Given the description of an element on the screen output the (x, y) to click on. 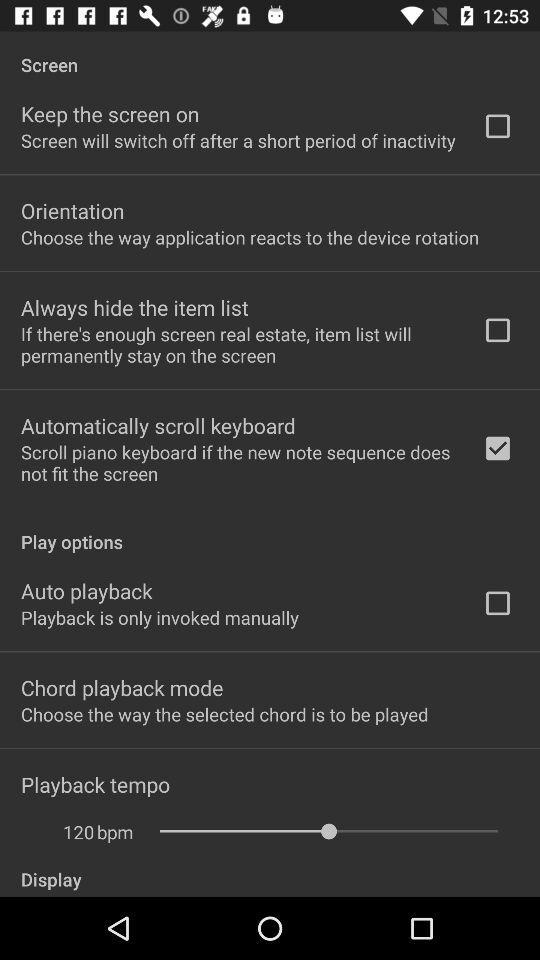
turn off the icon next to the 120 app (115, 831)
